Given the description of an element on the screen output the (x, y) to click on. 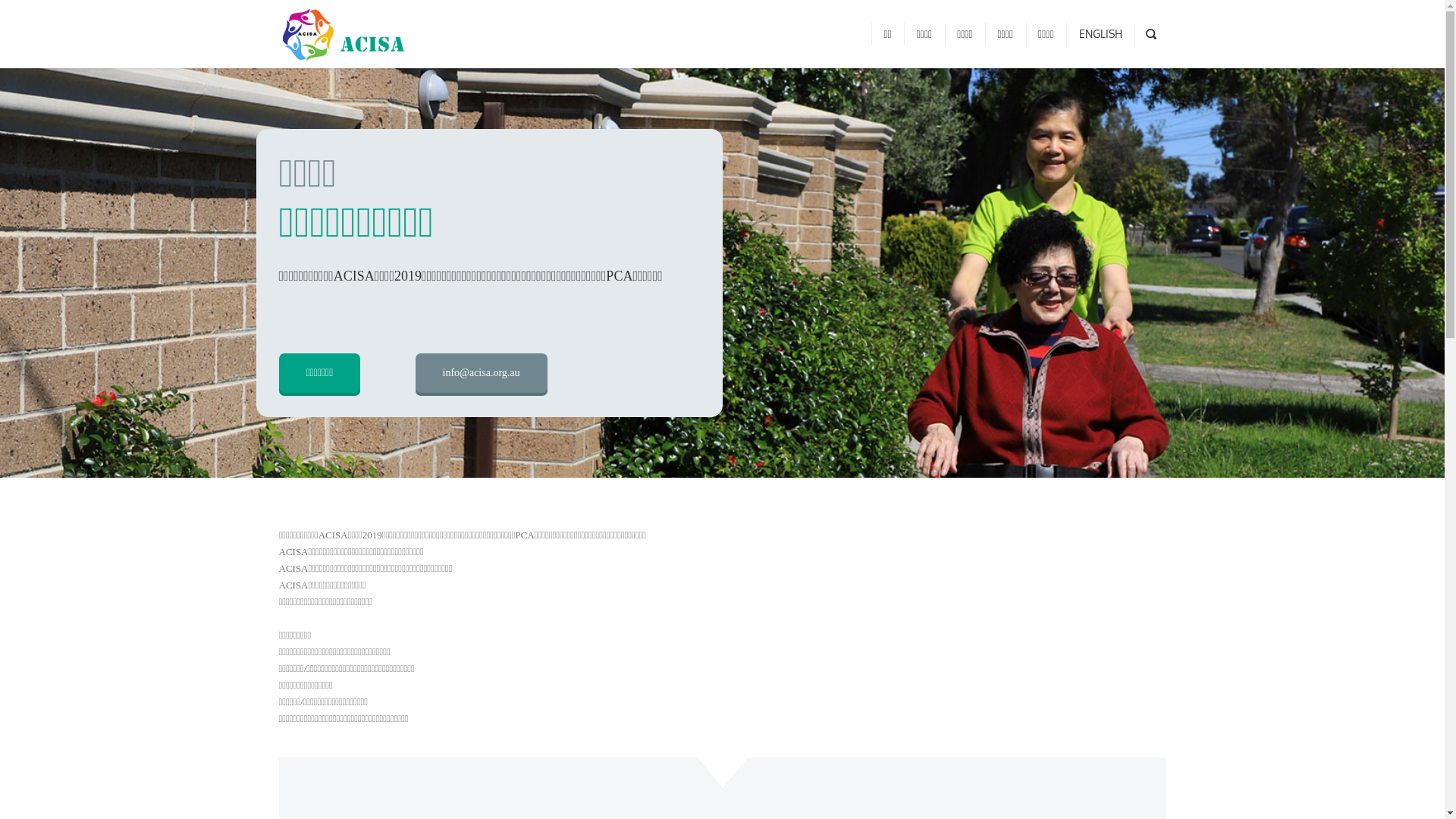
ACISA Element type: hover (341, 34)
Search Element type: text (40, 19)
info@acisa.org.au Element type: text (481, 372)
ENGLISH Element type: text (1100, 33)
